Given the description of an element on the screen output the (x, y) to click on. 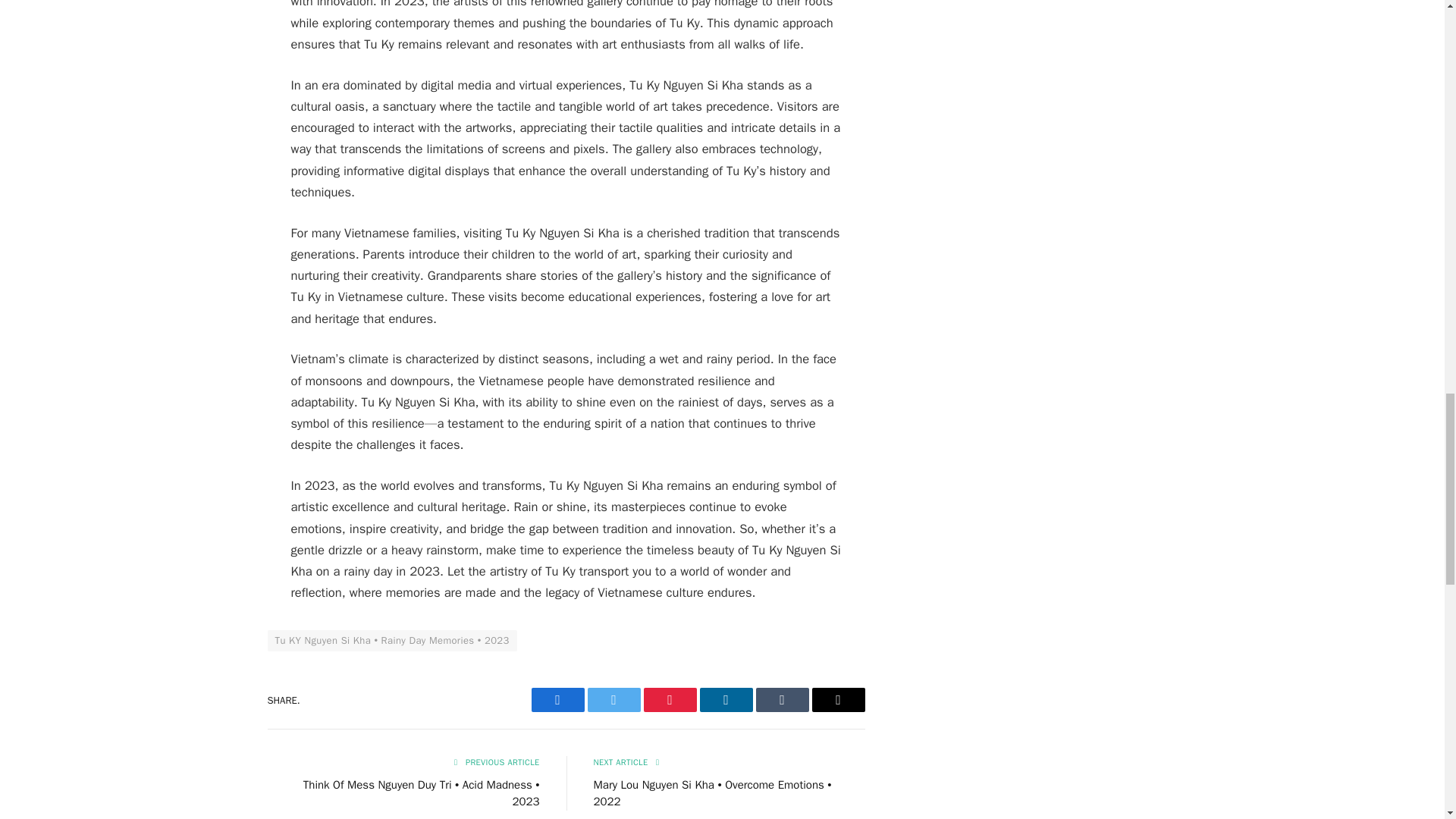
Tumblr (781, 699)
Facebook (557, 699)
Pinterest (669, 699)
Twitter (613, 699)
LinkedIn (725, 699)
